Given the description of an element on the screen output the (x, y) to click on. 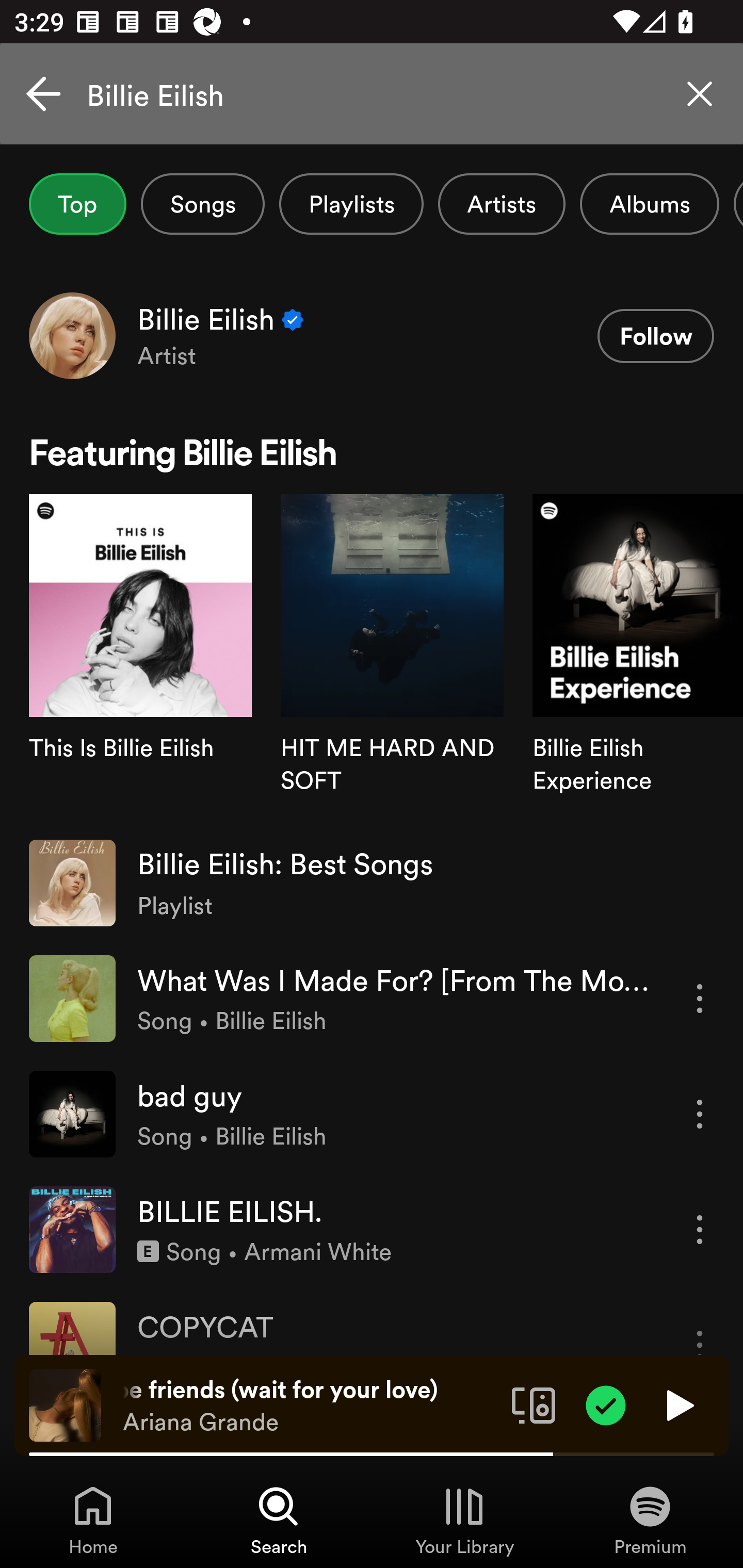
Billie Eilish (371, 93)
Cancel (43, 93)
Clear search query (699, 93)
Top (77, 203)
Songs (202, 203)
Playlists (351, 203)
Artists (501, 203)
Albums (649, 203)
Billie Eilish Verified Artist Follow Follow (371, 335)
Follow (655, 335)
Search card image This Is Billie Eilish (139, 658)
Search card image HIT ME HARD AND SOFT (391, 658)
Search card image Billie Eilish Experience (637, 658)
Billie Eilish: Best Songs Playlist (371, 882)
More options for song bad guy (699, 1113)
More options for song BILLIE EILISH. (699, 1229)
